Given the description of an element on the screen output the (x, y) to click on. 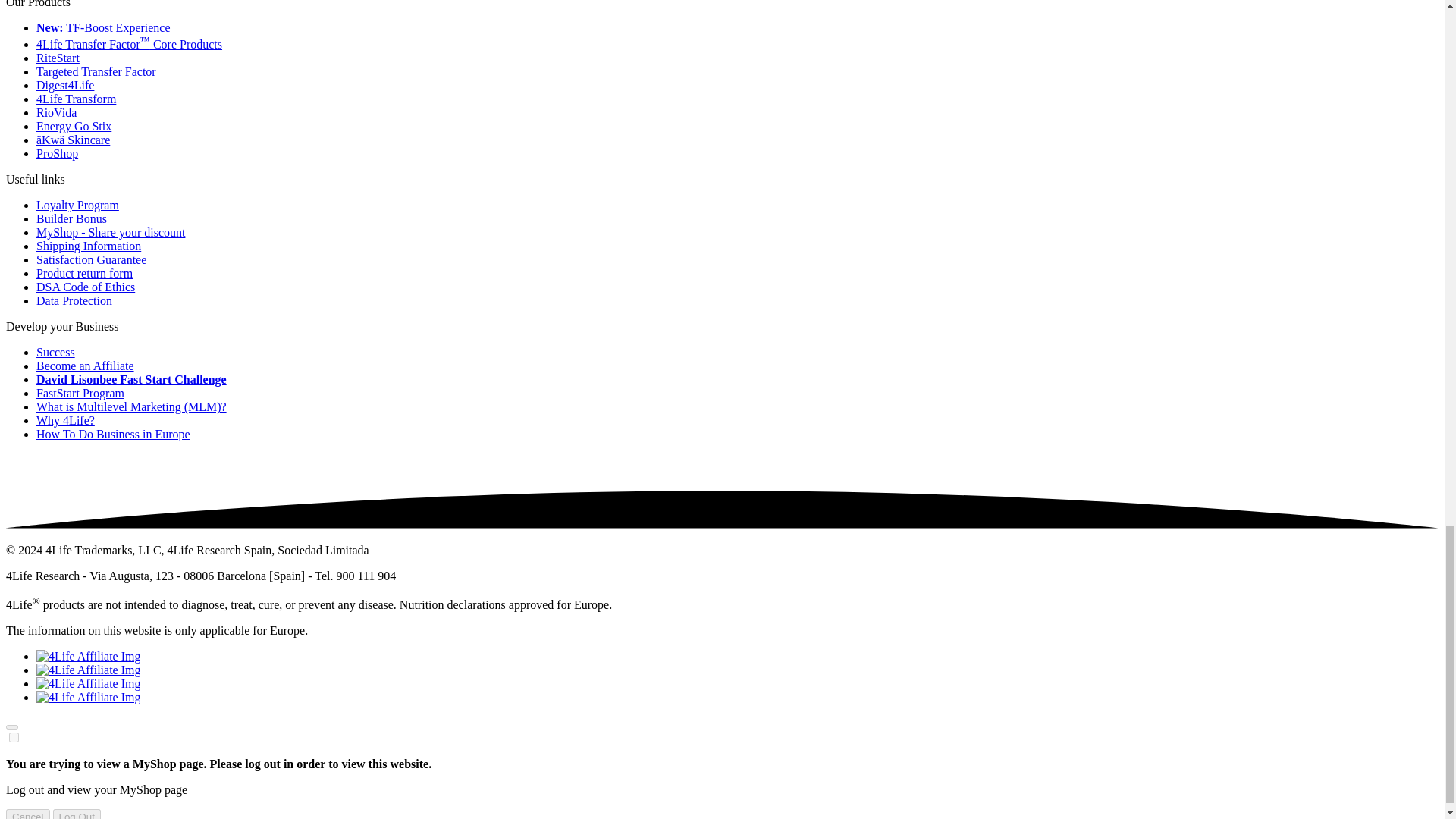
Digest4Life (65, 84)
Targeted Transfer Factor (95, 71)
Our Products (37, 4)
New: TF-Boost Experience (103, 27)
RiteStart (58, 57)
on (13, 737)
